Given the description of an element on the screen output the (x, y) to click on. 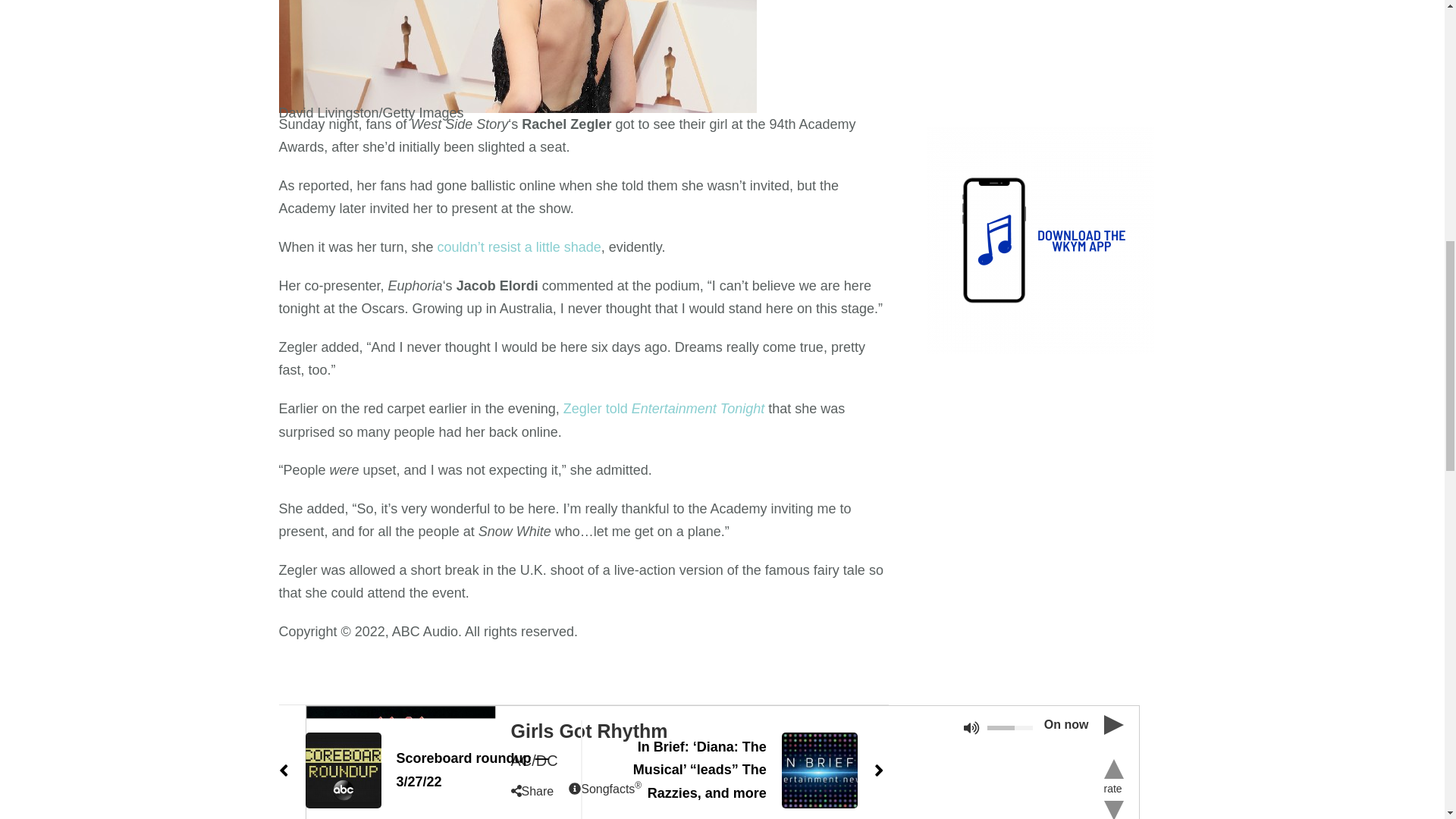
Website (706, 52)
Discography (839, 51)
Expand (400, 38)
Website (706, 52)
Zegler told Entertainment Tonight (664, 408)
Videos (935, 52)
Discography (839, 51)
Videos (935, 52)
